Given the description of an element on the screen output the (x, y) to click on. 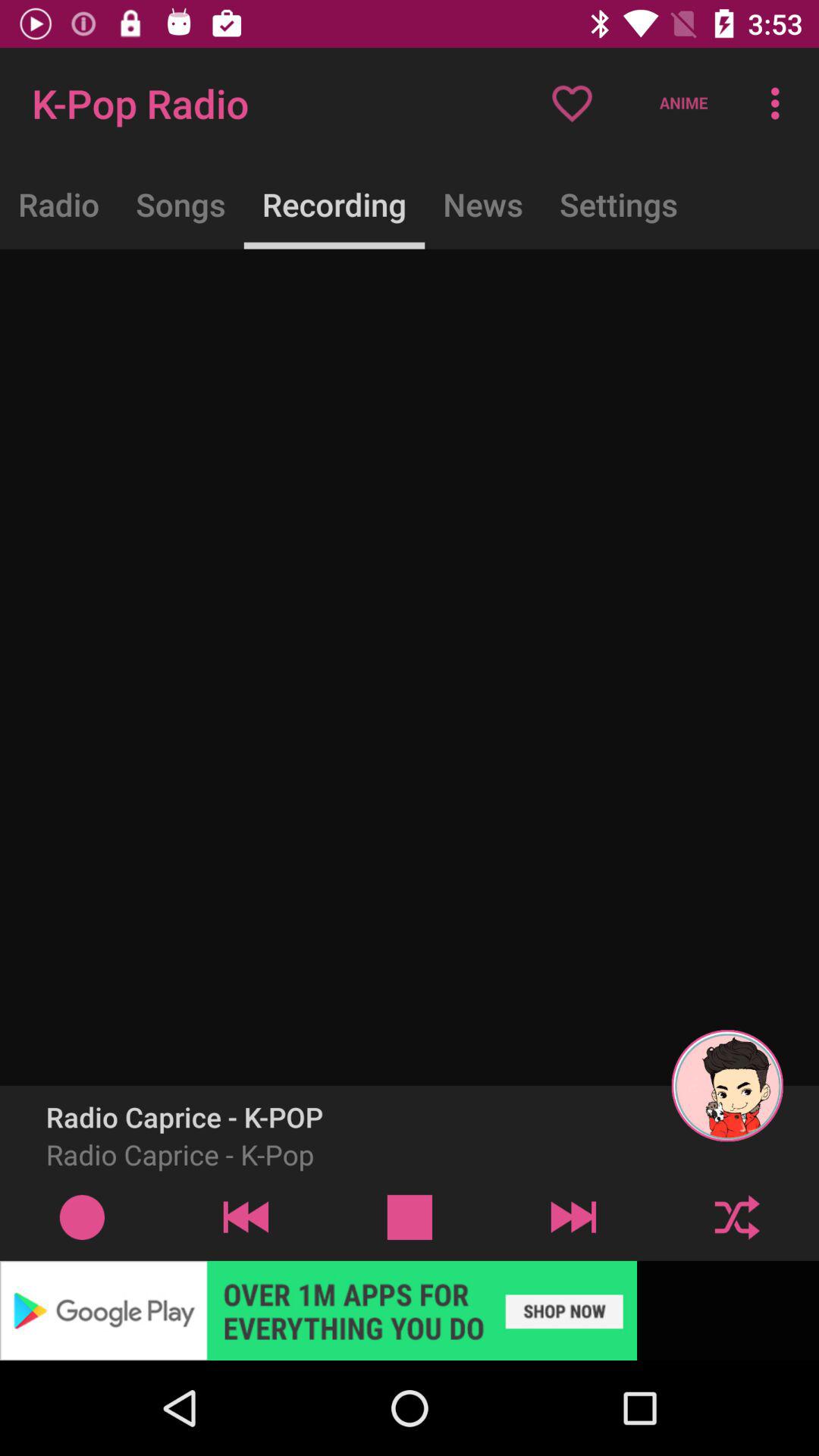
google play advertisement (409, 1310)
